Given the description of an element on the screen output the (x, y) to click on. 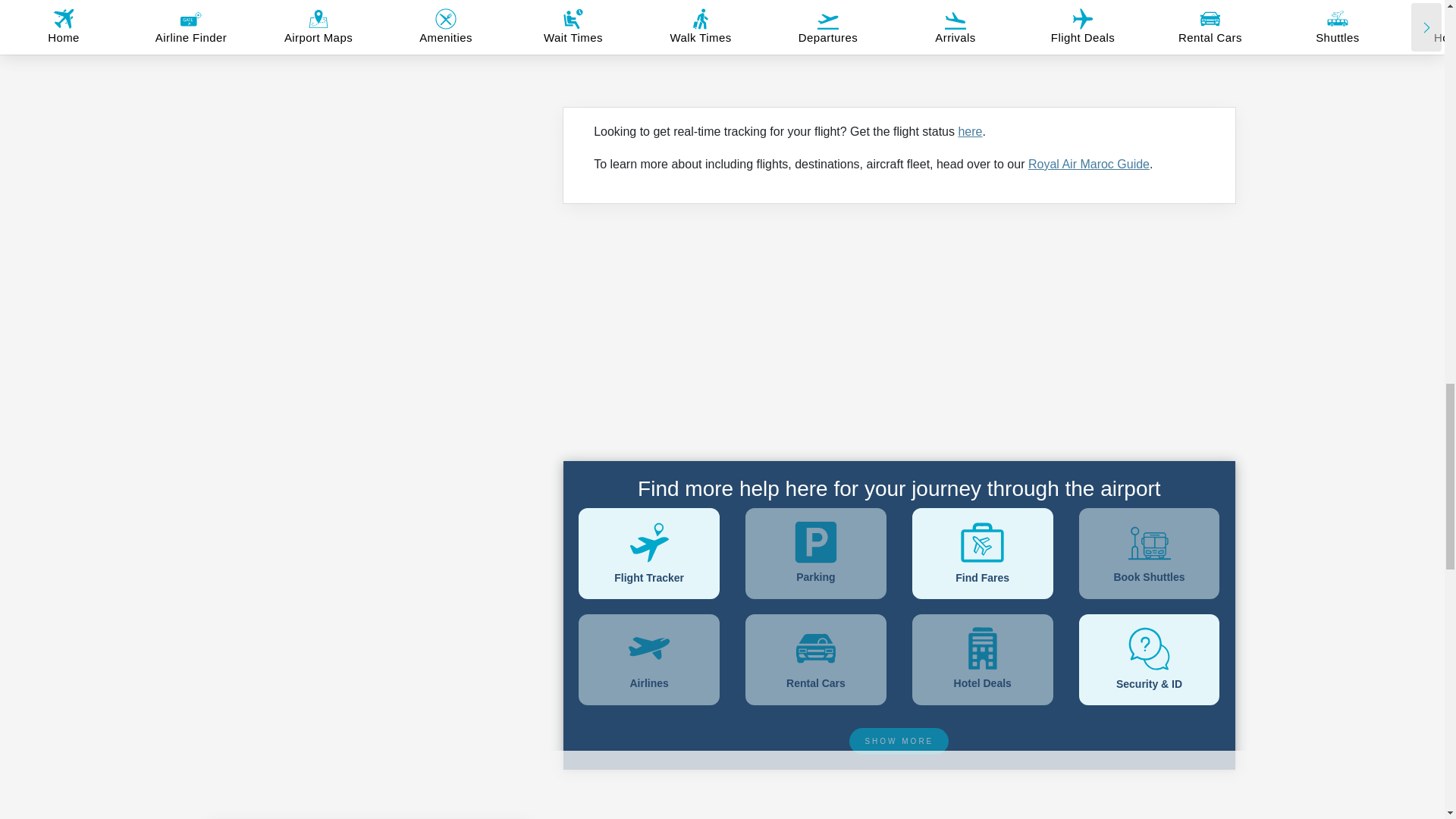
show more (898, 741)
